Given the description of an element on the screen output the (x, y) to click on. 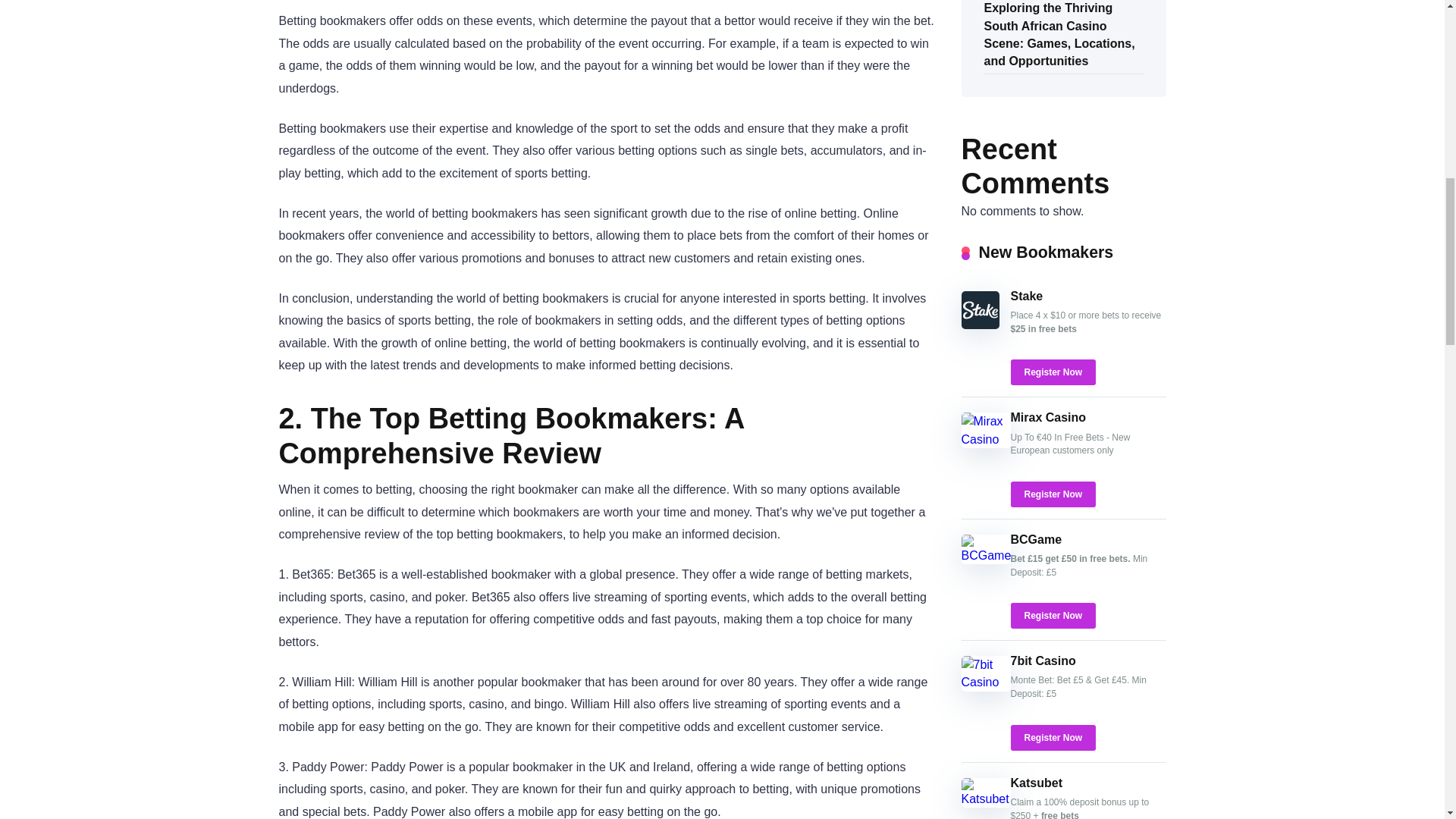
Katsubet (1035, 782)
Register Now (1053, 371)
Stake (1026, 295)
Mirax Casino (985, 438)
BCGame (1035, 539)
7bit Casino (1042, 660)
Mirax Casino (1048, 417)
BCGame (1035, 539)
Register Now (1053, 493)
BCGame (985, 554)
Register Now (1053, 371)
Register Now (1053, 737)
Register Now (1053, 615)
Mirax Casino (1048, 417)
